Given the description of an element on the screen output the (x, y) to click on. 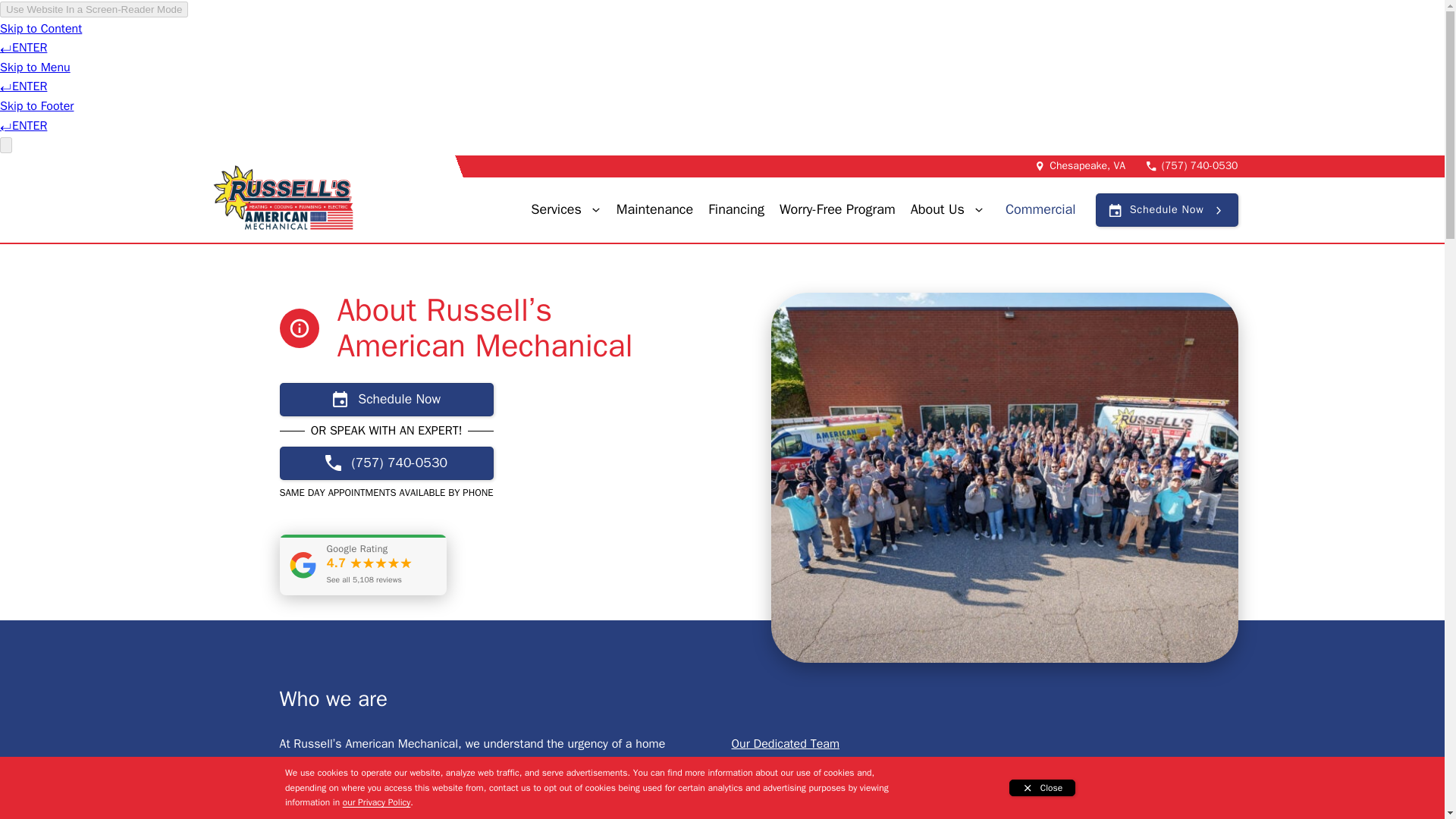
Toggle About Us sub menu (978, 210)
our Privacy Policy (376, 802)
Toggle Services sub menu (595, 210)
Chesapeake, VA (1087, 166)
Close (1042, 787)
Toggle Sub Menu (595, 210)
